Given the description of an element on the screen output the (x, y) to click on. 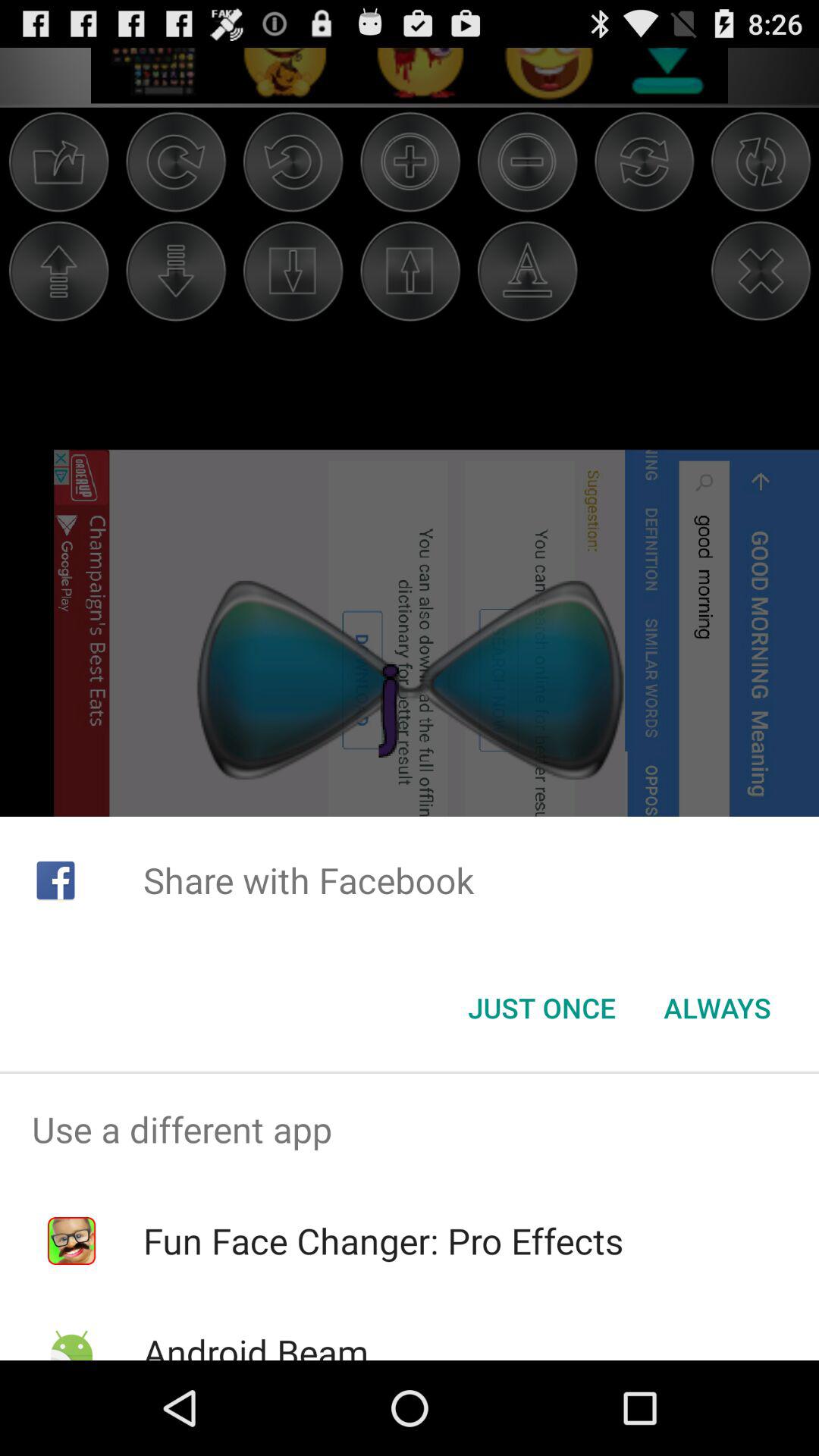
turn off android beam (255, 1344)
